Given the description of an element on the screen output the (x, y) to click on. 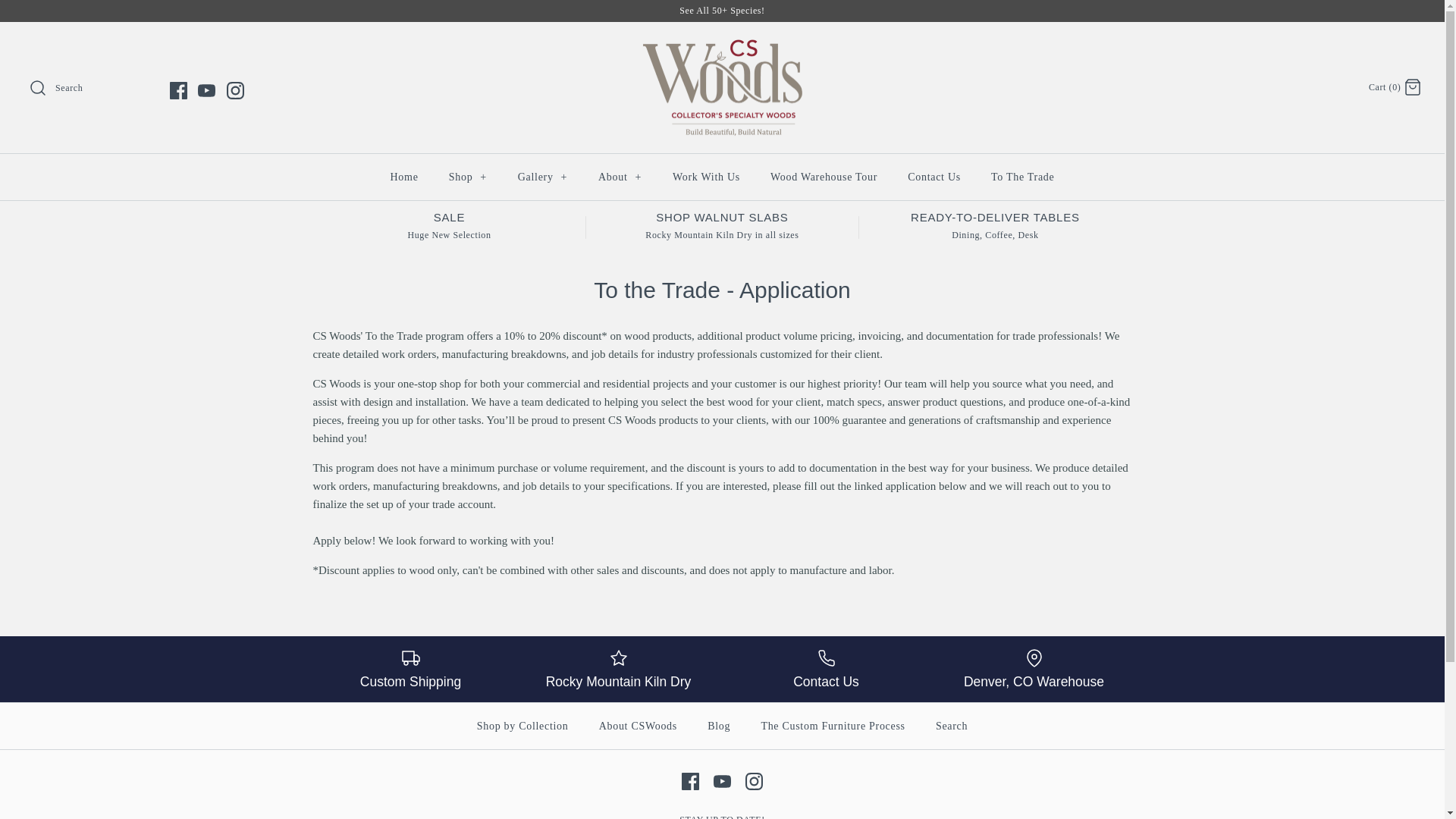
Instagram (753, 781)
Facebook (178, 90)
Facebook (178, 90)
Instagram (234, 90)
Instagram (234, 90)
Youtube (206, 90)
Youtube (206, 90)
Facebook (178, 90)
Youtube (721, 781)
Instagram (753, 781)
